Given the description of an element on the screen output the (x, y) to click on. 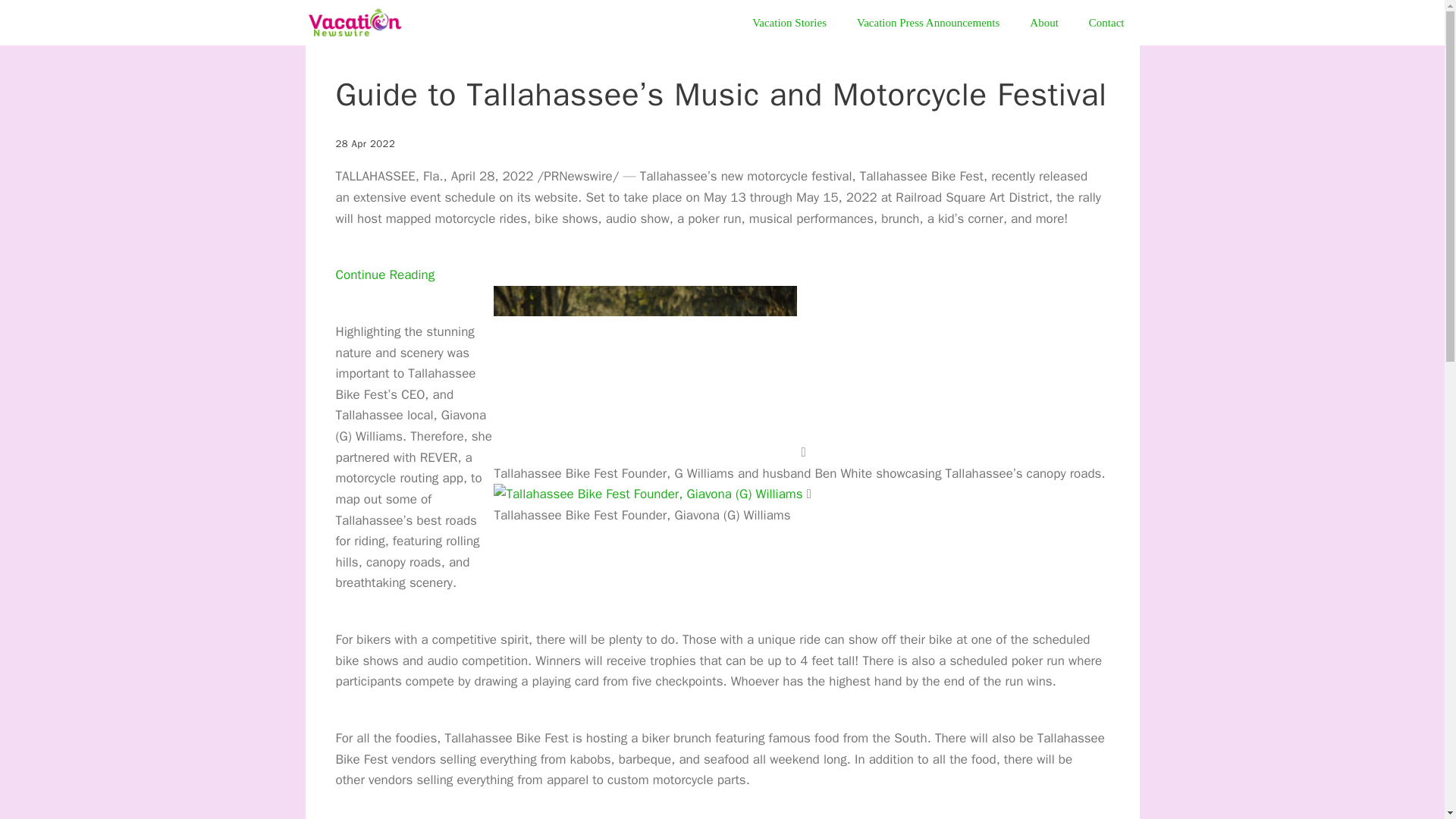
Vacation Press Announcements (927, 22)
Contact (1107, 22)
Continue Reading (383, 274)
About (1044, 22)
Vacation Stories (788, 22)
Vacation Newswire (353, 22)
Vacation Newswire (357, 22)
Continue Reading (383, 274)
